Given the description of an element on the screen output the (x, y) to click on. 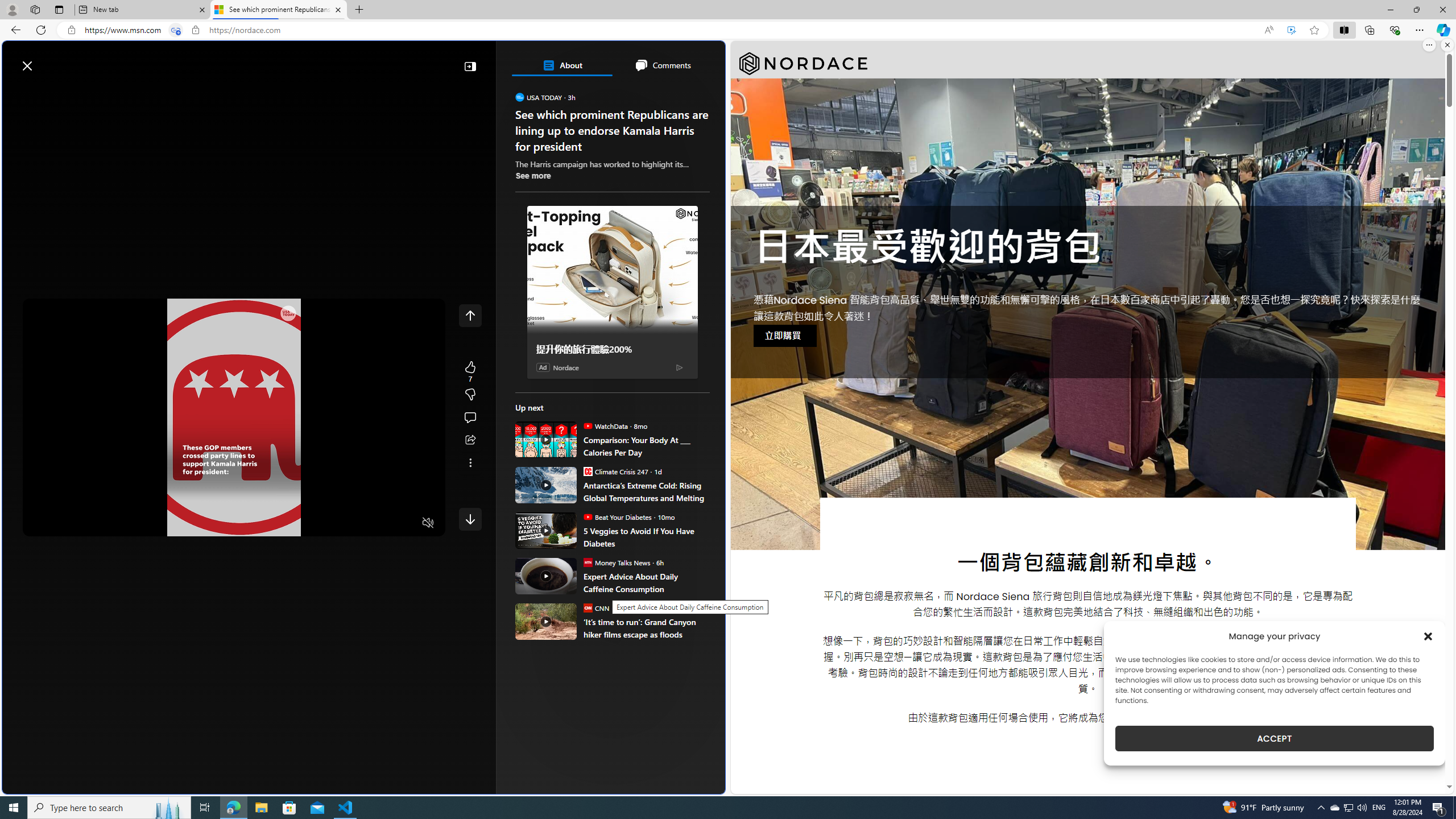
CNN CNN (596, 607)
7 Like (469, 371)
Unmute (427, 523)
Enter your search term (366, 59)
Skip to footer (46, 59)
